Given the description of an element on the screen output the (x, y) to click on. 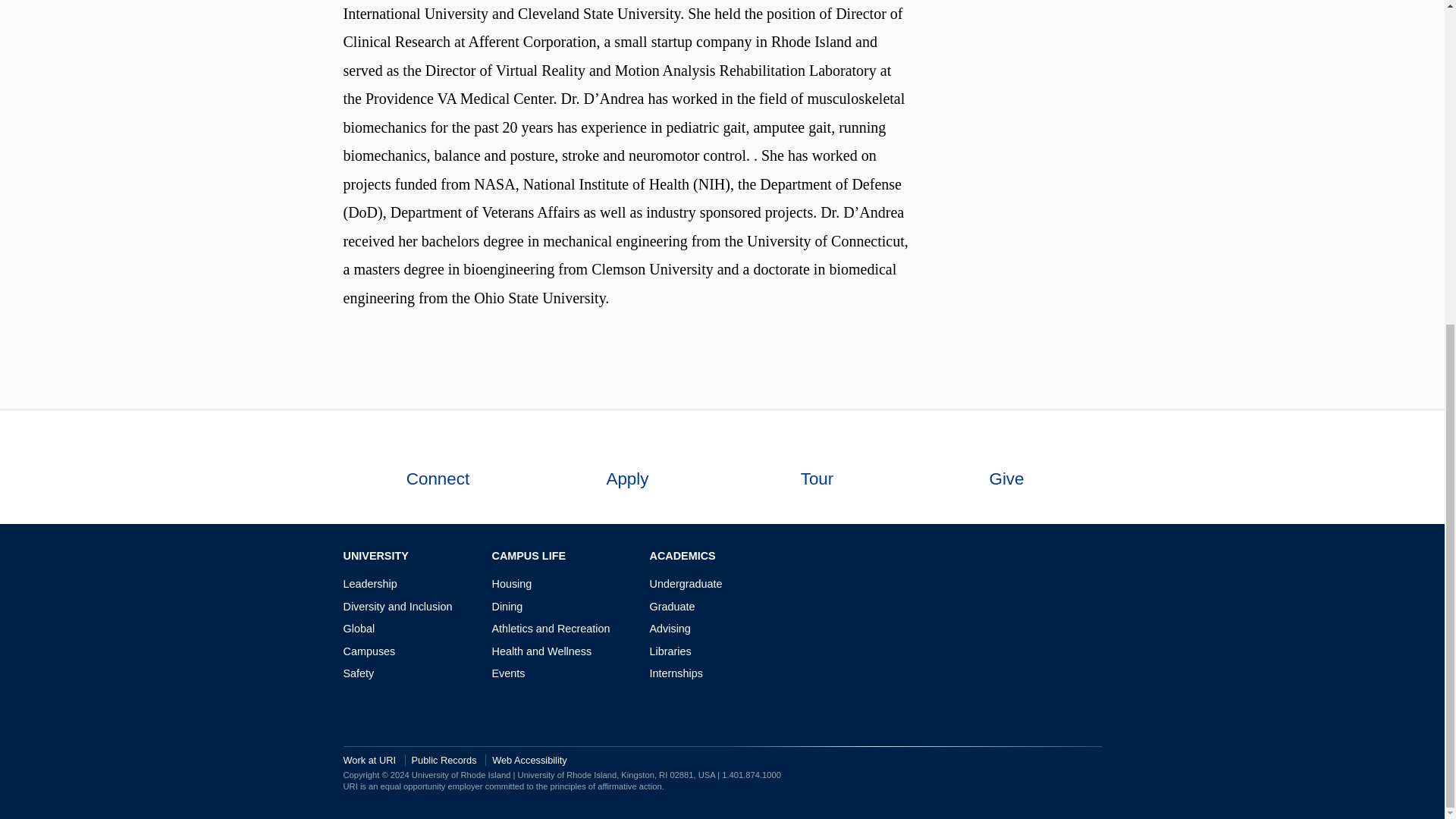
Libraries (669, 651)
Leadership (369, 583)
Advising (669, 628)
Campuses (368, 651)
Events (508, 673)
Undergraduate (685, 583)
Dining (507, 606)
Facebook (1024, 557)
Instagram (1048, 557)
Connect (437, 467)
Apply (627, 467)
Learn more about URI: Get in touch (437, 449)
X (1070, 557)
Safety (358, 673)
Tour (816, 467)
